Given the description of an element on the screen output the (x, y) to click on. 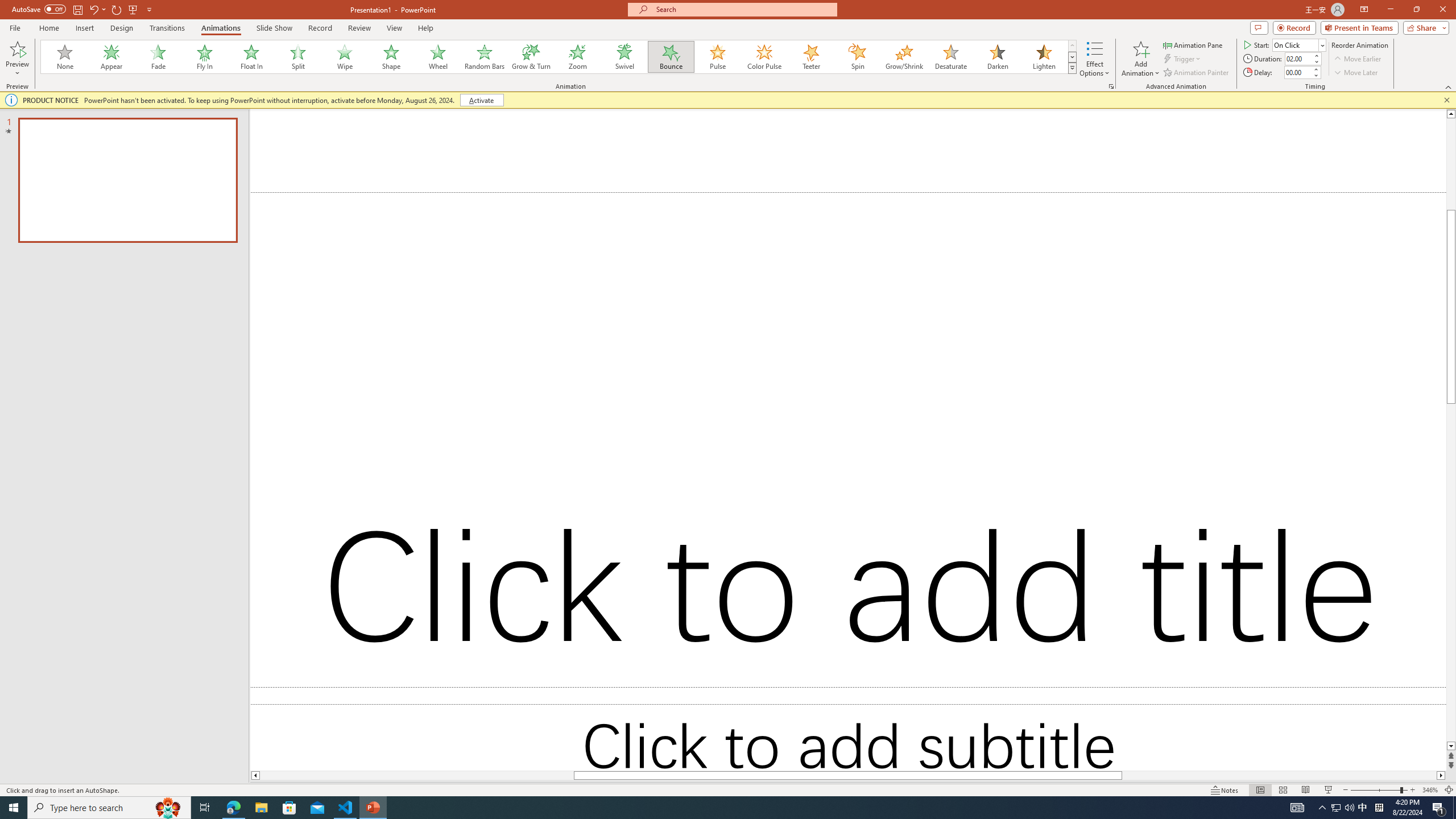
Animation Styles (1071, 67)
Wipe (344, 56)
Activate (481, 100)
Restore Down (1416, 9)
None (65, 56)
Color Pulse (764, 56)
Bounce (670, 56)
Random Bars (484, 56)
Collapse the Ribbon (1448, 86)
Undo (92, 9)
From Beginning (133, 9)
Animation Painter (1196, 72)
Fly In (205, 56)
Row up (1071, 45)
Present in Teams (1359, 27)
